Given the description of an element on the screen output the (x, y) to click on. 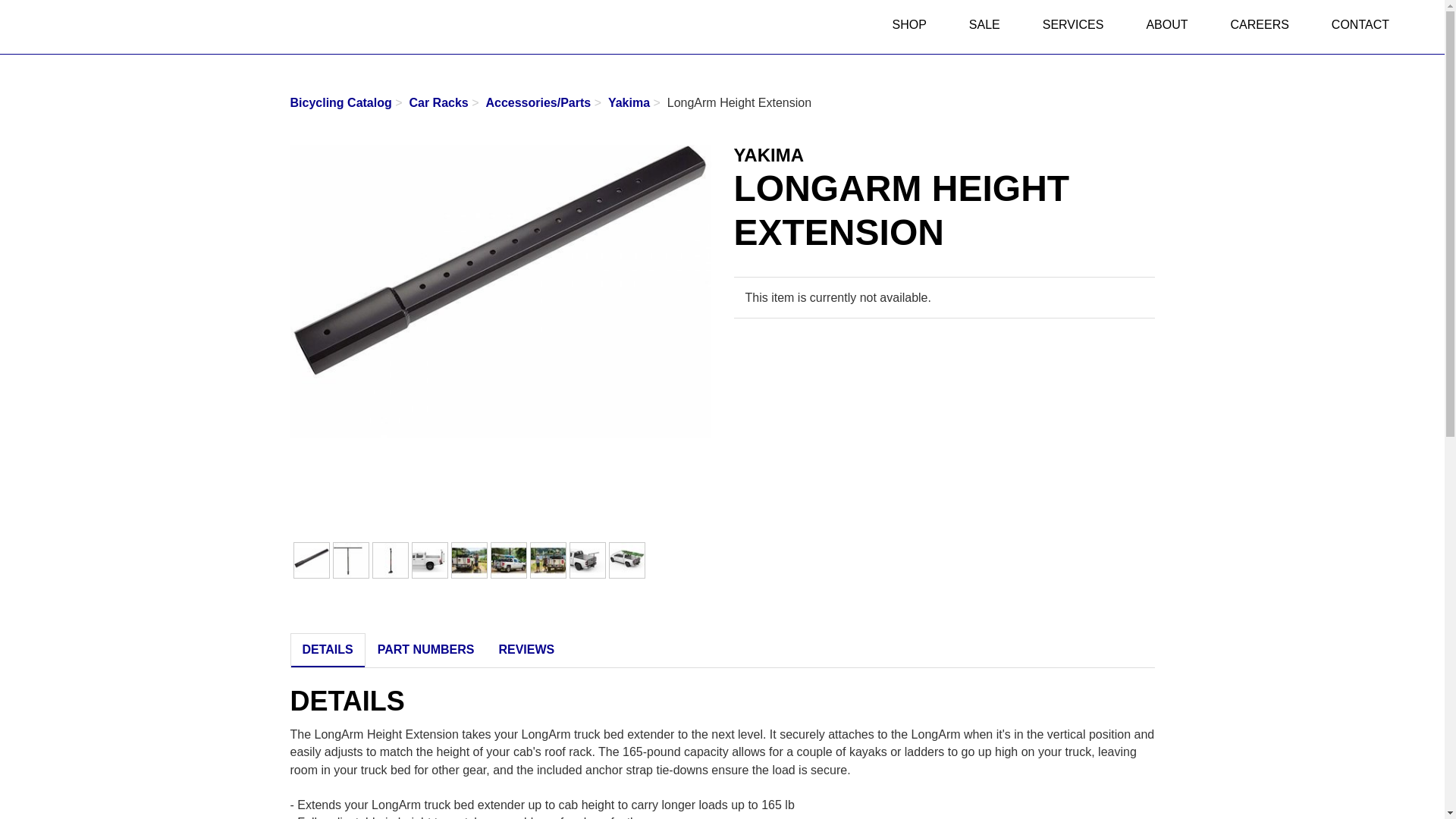
Color: Black (389, 560)
Color: Black (429, 560)
Color: Black (311, 560)
Color: Black (468, 560)
Color: Black (508, 560)
Color: Black (350, 560)
Color: Black (548, 560)
SHOP (908, 27)
Color: Black (627, 560)
Color: Black (587, 560)
